Given the description of an element on the screen output the (x, y) to click on. 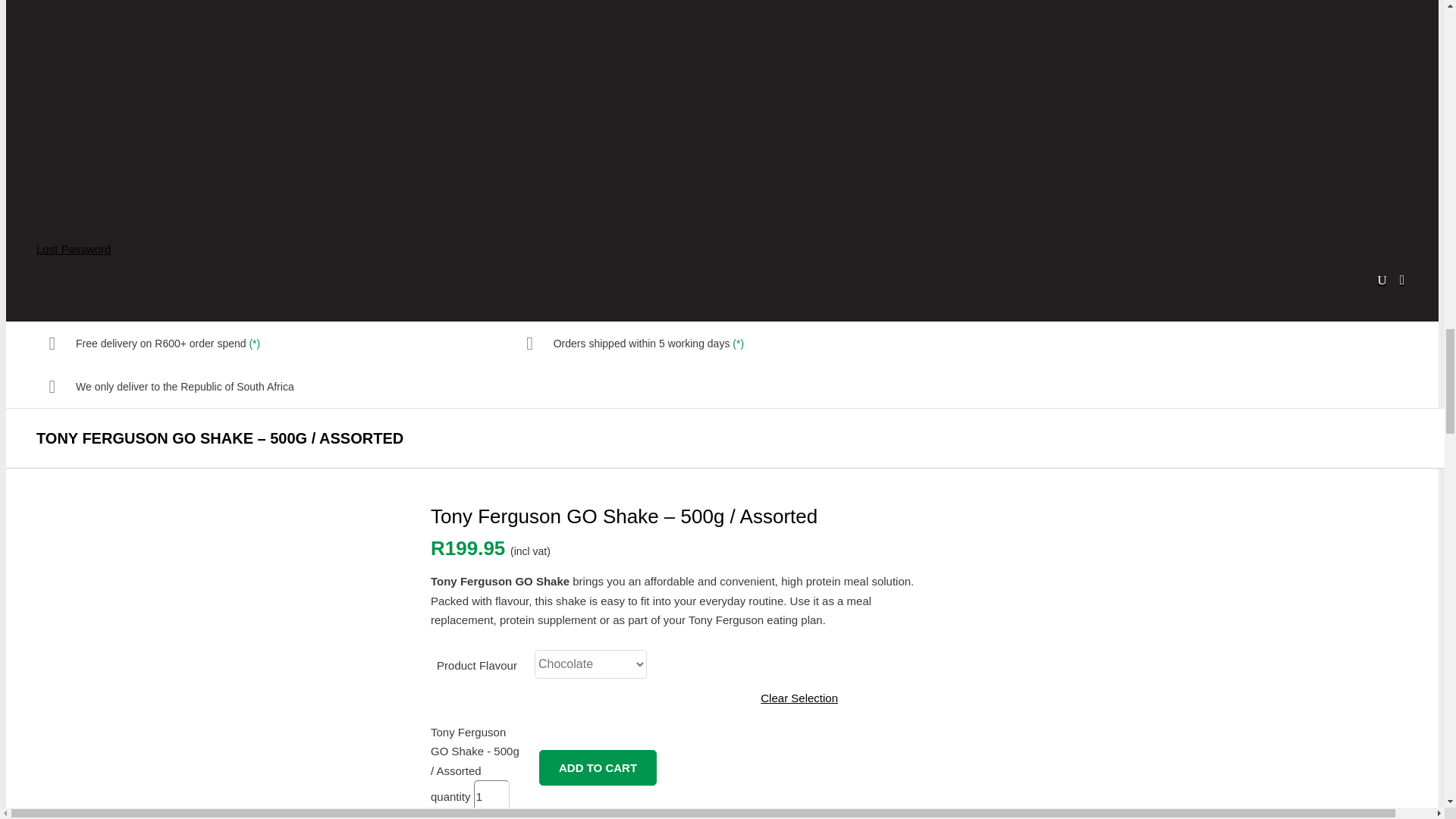
1 (491, 796)
